Given the description of an element on the screen output the (x, y) to click on. 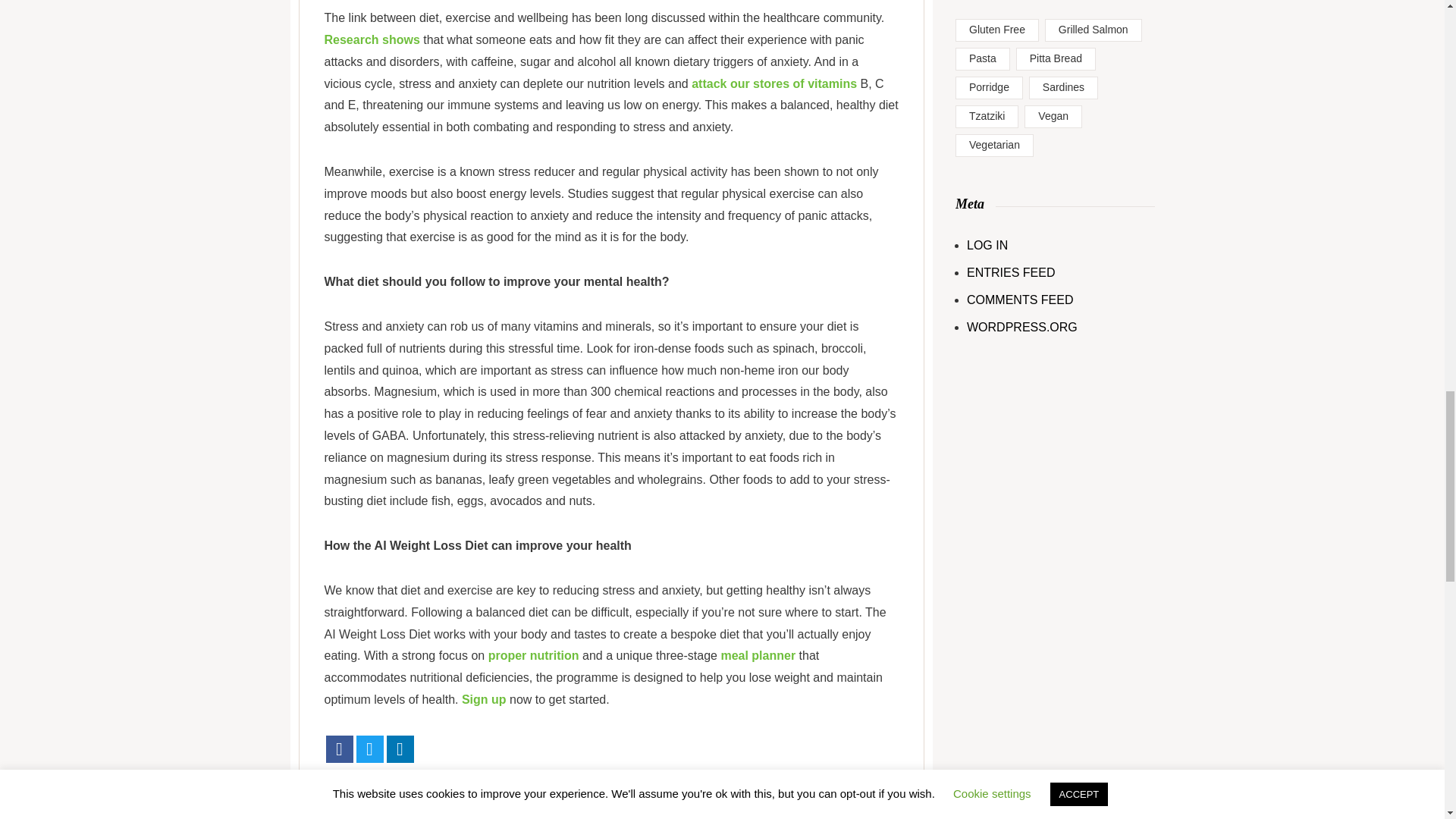
Twitter (370, 748)
Facebook (339, 748)
LinkedIn (400, 748)
